Given the description of an element on the screen output the (x, y) to click on. 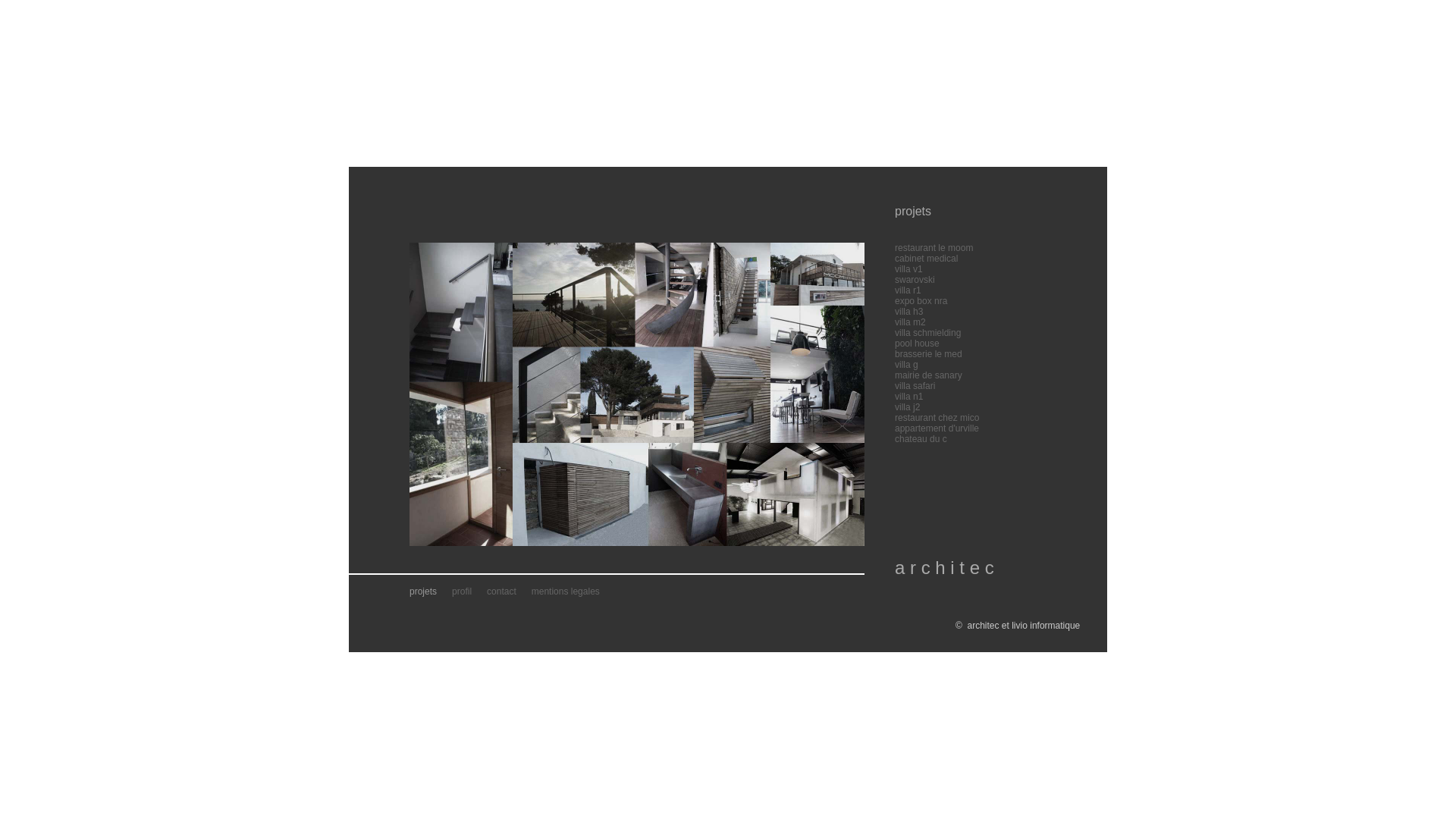
profil Element type: text (461, 591)
swarovski Element type: text (914, 279)
mairie de sanary Element type: text (928, 375)
projets Element type: text (422, 591)
brasserie le med Element type: text (928, 353)
appartement d'urville Element type: text (936, 428)
a r c h i t e c Element type: text (944, 567)
villa safari Element type: text (914, 385)
restaurant le moom Element type: text (933, 247)
villa n1 Element type: text (908, 396)
villa j2 Element type: text (906, 406)
contact Element type: text (501, 591)
villa r1 Element type: text (907, 290)
pool house Element type: text (916, 343)
mentions legales Element type: text (565, 591)
expo box nra Element type: text (920, 300)
chateau du c Element type: text (920, 438)
cabinet medical Element type: text (925, 258)
villa h3 Element type: text (908, 311)
villa g Element type: text (906, 364)
villa schmielding Element type: text (927, 332)
villa v1 Element type: text (908, 268)
restaurant chez mico Element type: text (936, 417)
villa m2 Element type: text (909, 321)
